Given the description of an element on the screen output the (x, y) to click on. 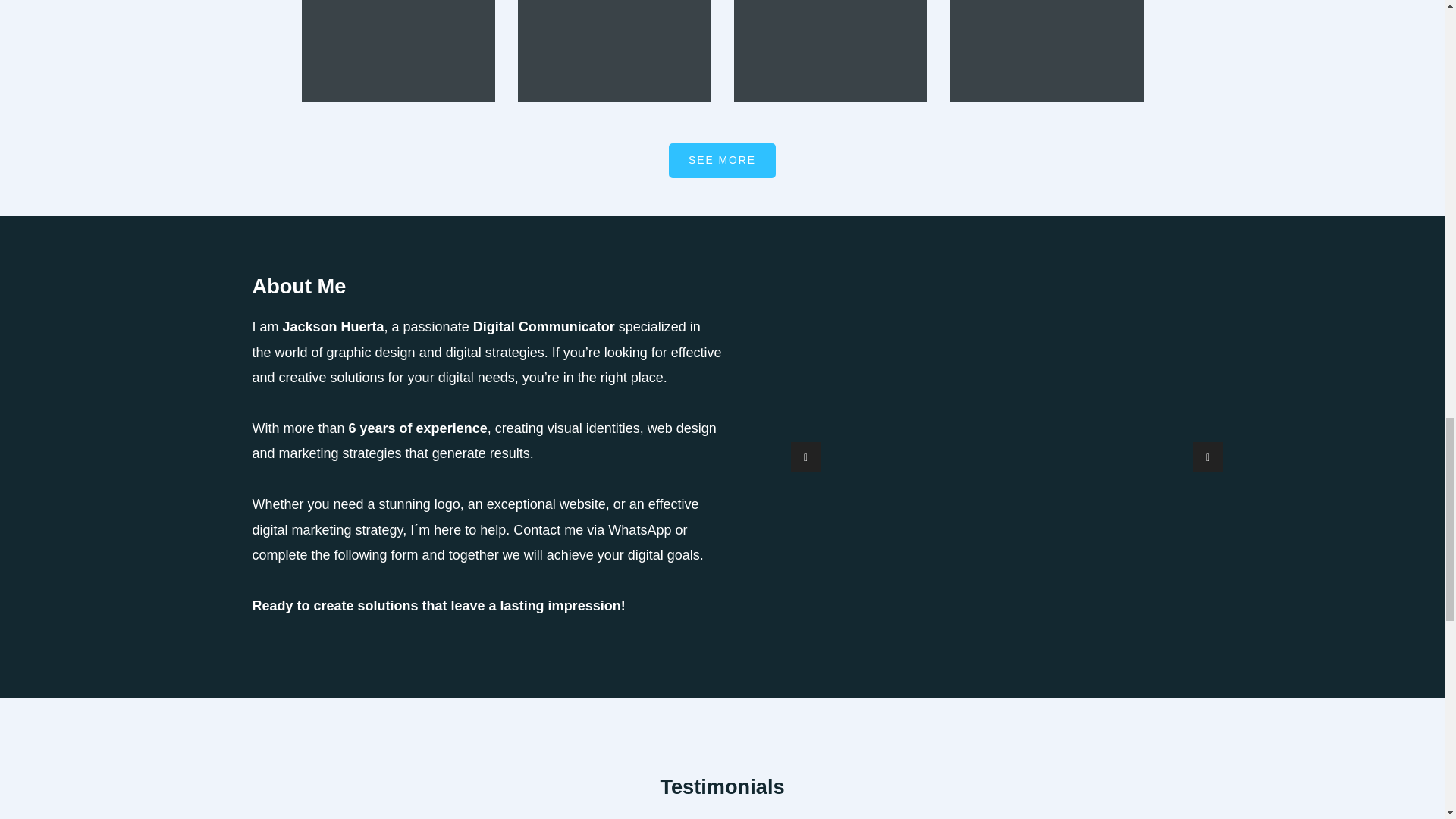
SEE MORE (722, 160)
